Given the description of an element on the screen output the (x, y) to click on. 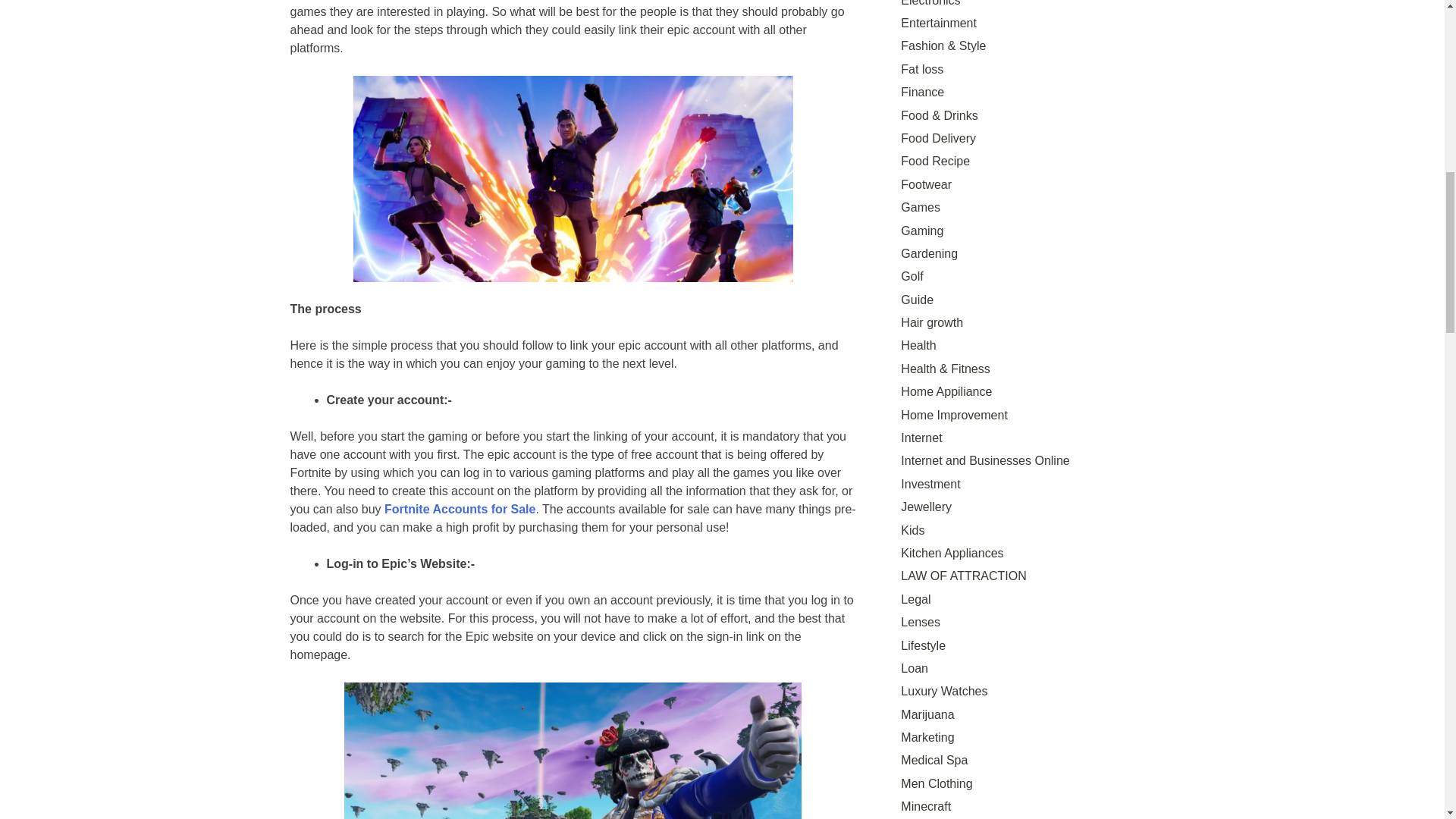
Fortnite Accounts for Sale (459, 508)
